Given the description of an element on the screen output the (x, y) to click on. 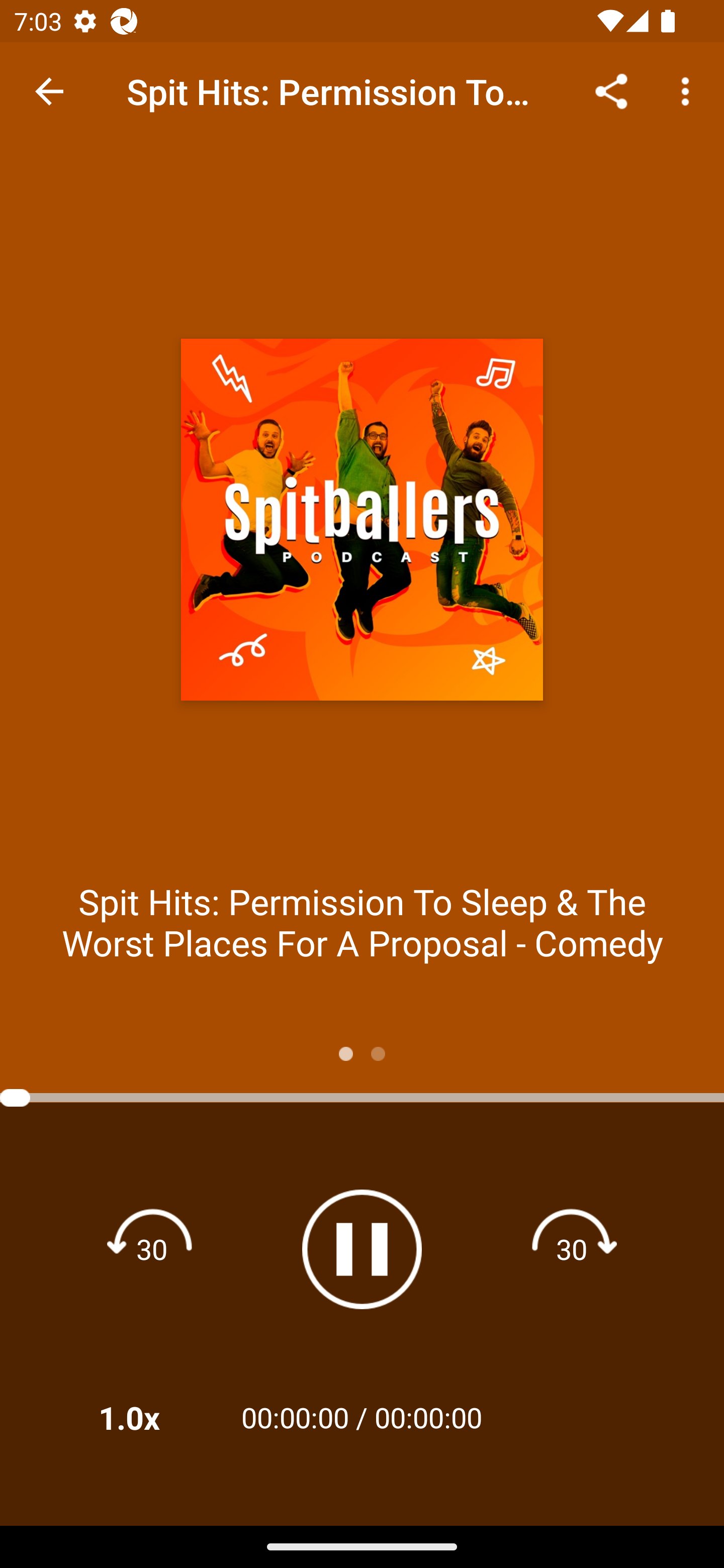
Navigate up (49, 91)
Share... (611, 90)
More options (688, 90)
Pause (361, 1249)
Rewind (151, 1248)
Fast forward (571, 1248)
1.0x Playback Speeds (154, 1417)
00:00:00 (428, 1417)
